Given the description of an element on the screen output the (x, y) to click on. 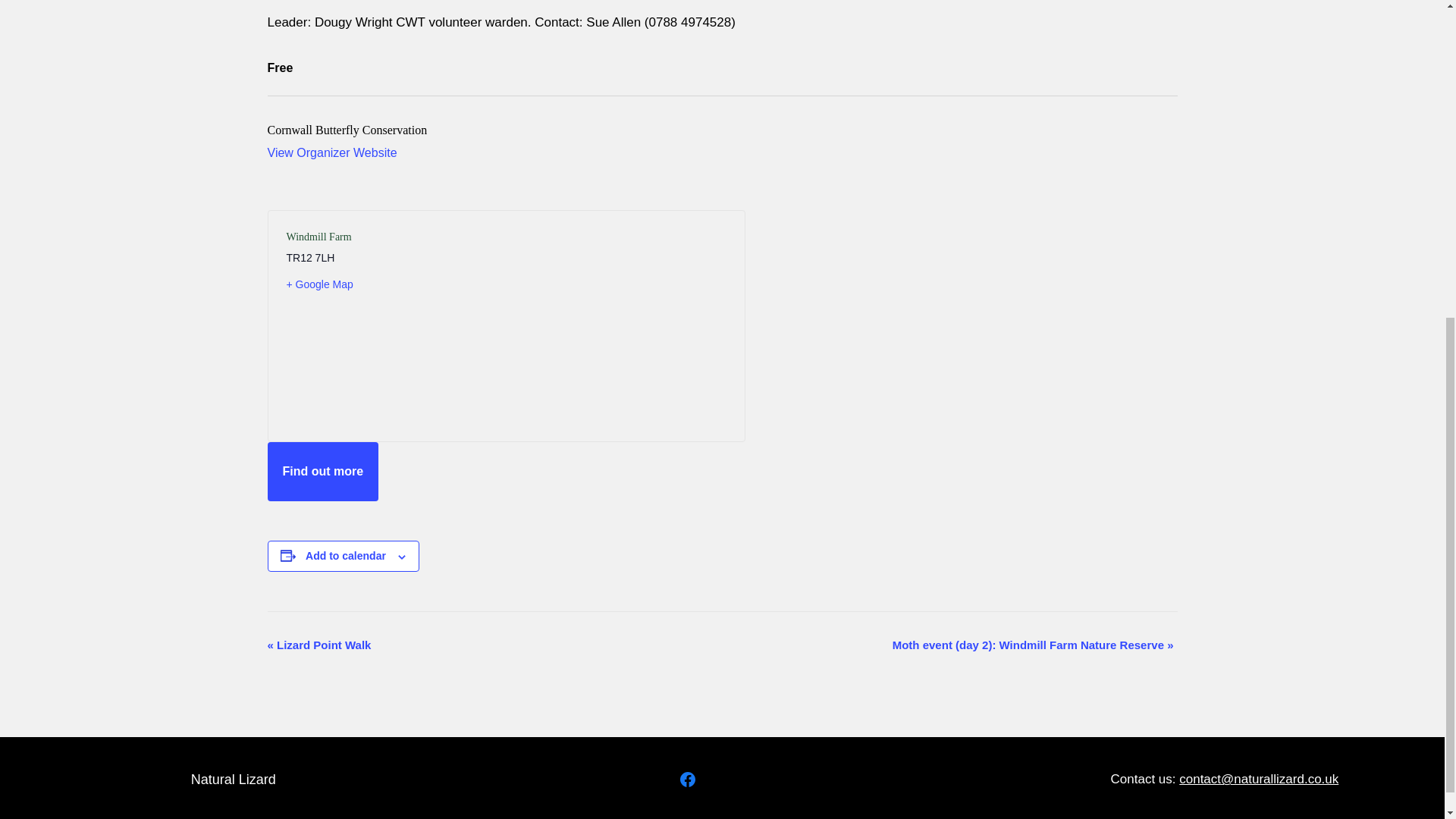
Click to view a Google Map (389, 284)
View Organizer Website (331, 152)
Add to calendar (345, 555)
Find out more (322, 471)
